Given the description of an element on the screen output the (x, y) to click on. 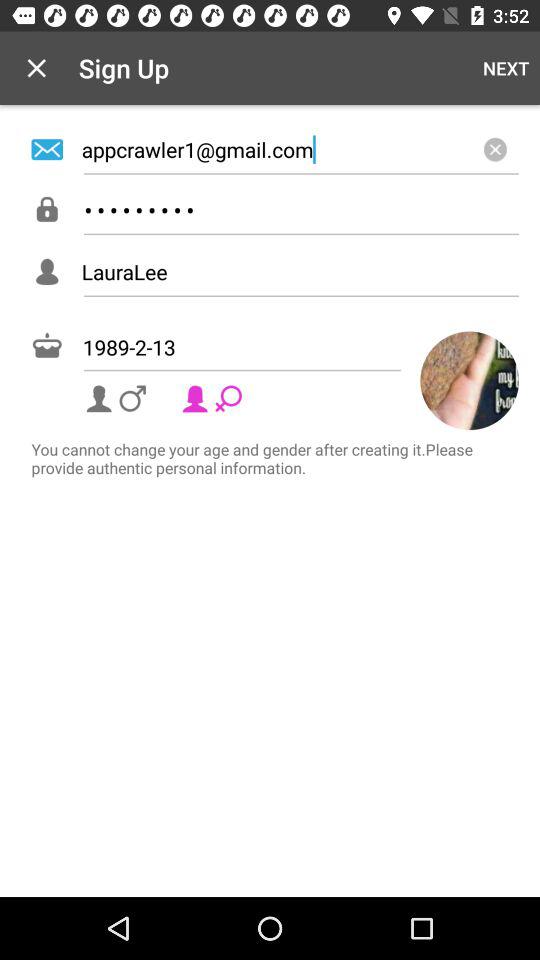
launch item next to sign up (506, 67)
